Given the description of an element on the screen output the (x, y) to click on. 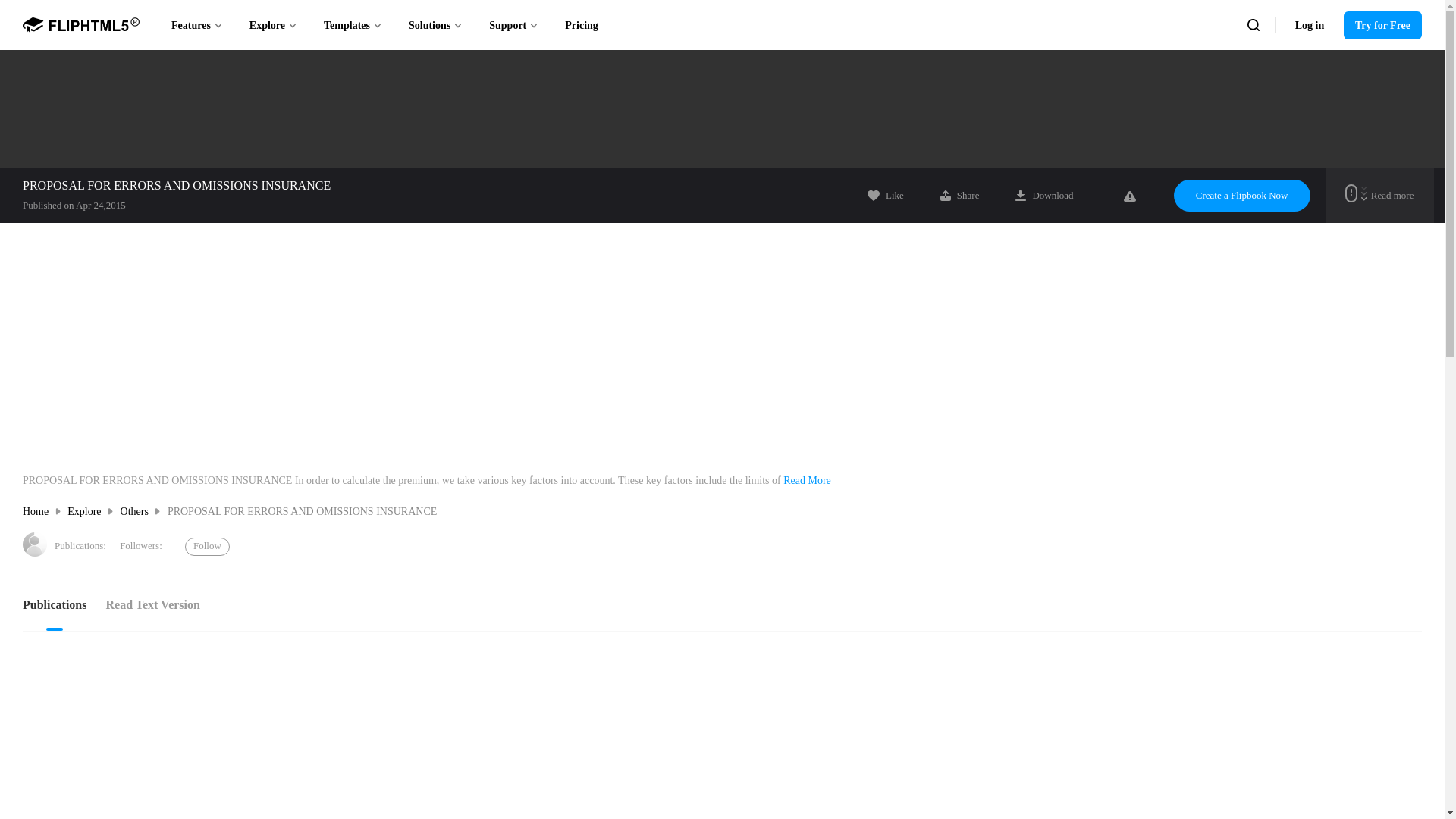
Add to My Favorites (885, 195)
Explore (272, 24)
The publisher doesn't allow readers to download this book. (1043, 195)
Features (196, 24)
Visit Homepage (34, 544)
